Given the description of an element on the screen output the (x, y) to click on. 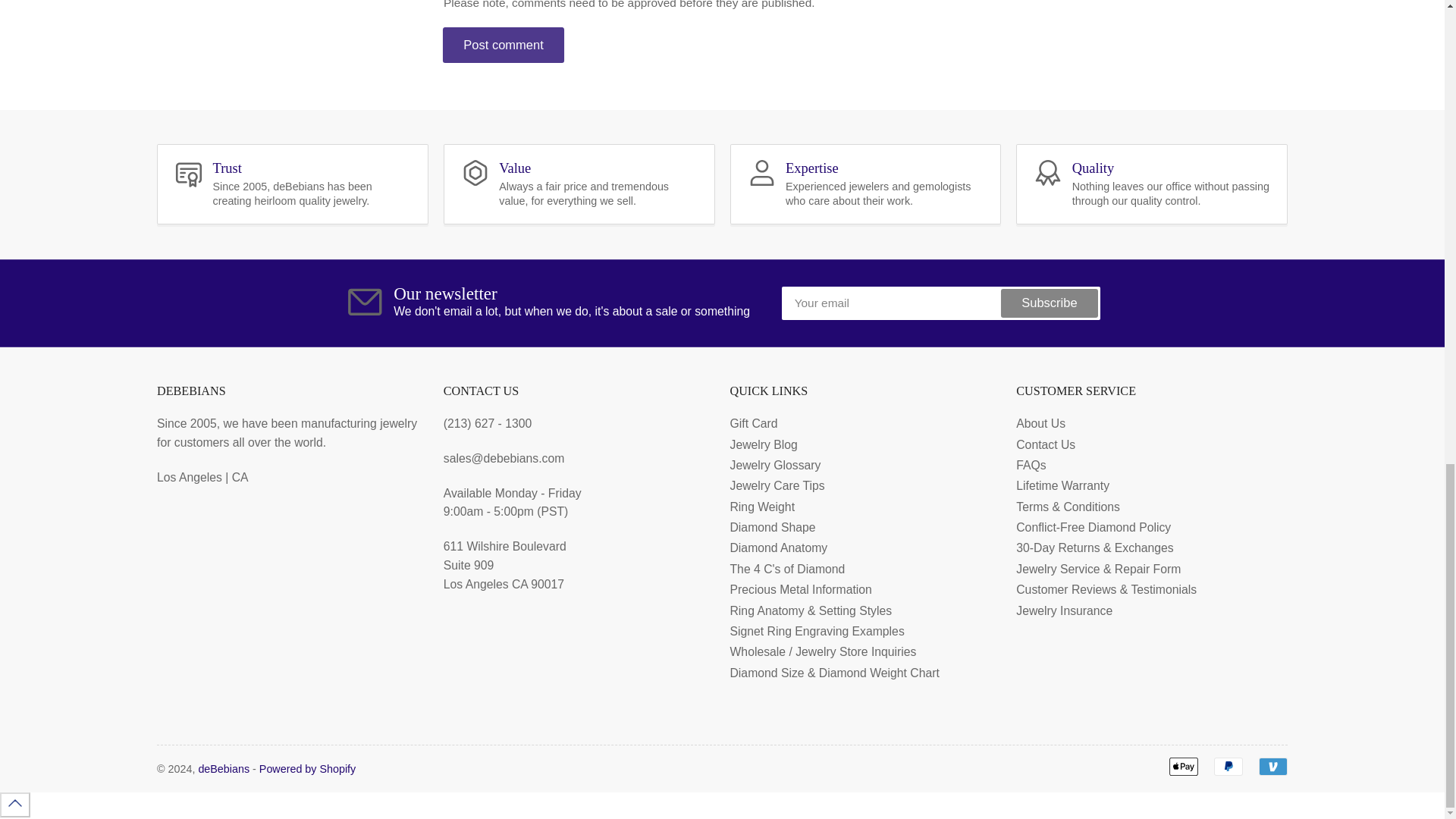
Venmo (1273, 766)
Apple Pay (1183, 766)
PayPal (1228, 766)
Post comment (503, 44)
